Given the description of an element on the screen output the (x, y) to click on. 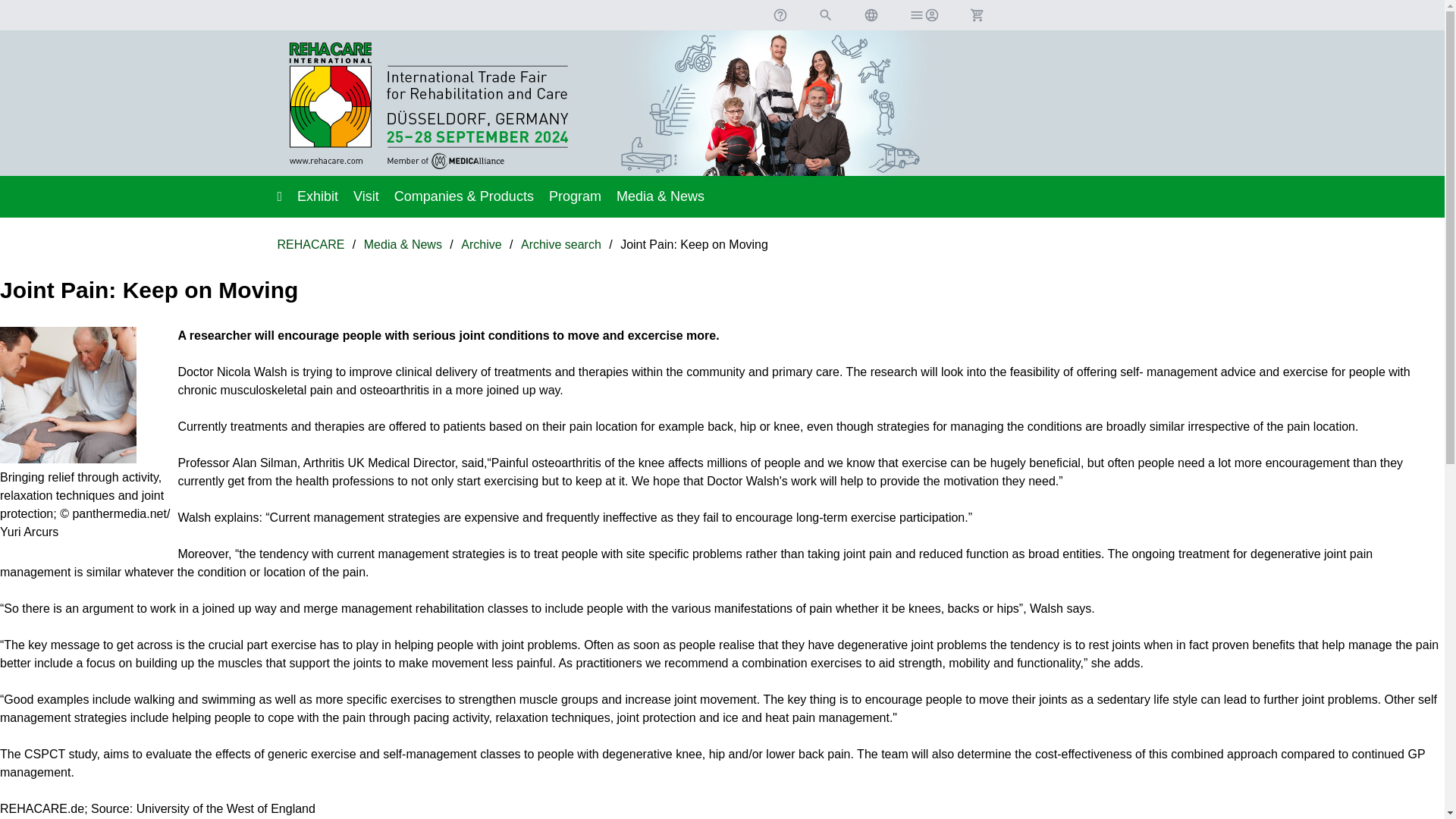
English (870, 14)
Ticket shop (975, 14)
Support (779, 14)
Login (923, 14)
Search (824, 14)
